Given the description of an element on the screen output the (x, y) to click on. 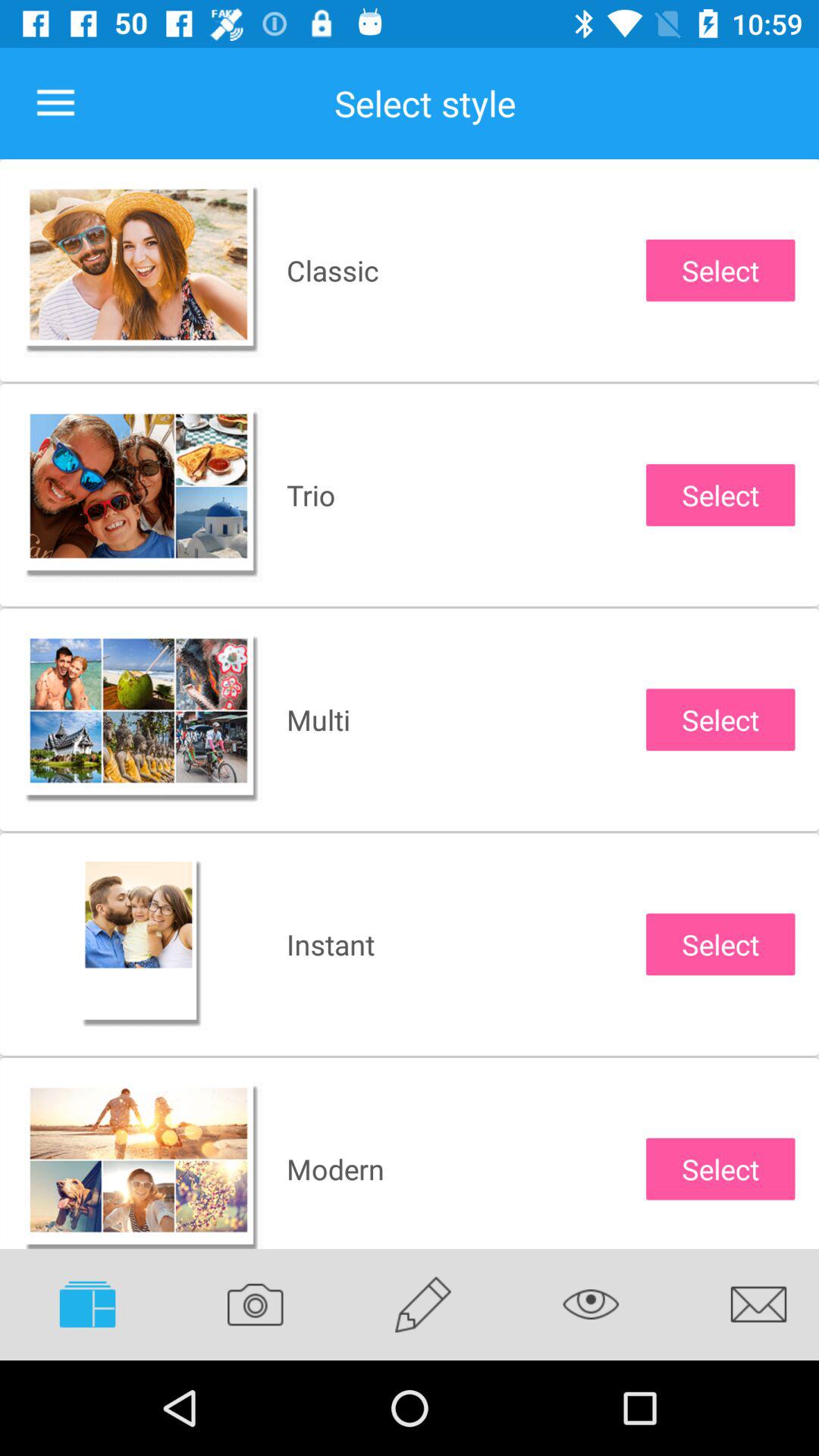
click the icon next to select style (55, 103)
